Given the description of an element on the screen output the (x, y) to click on. 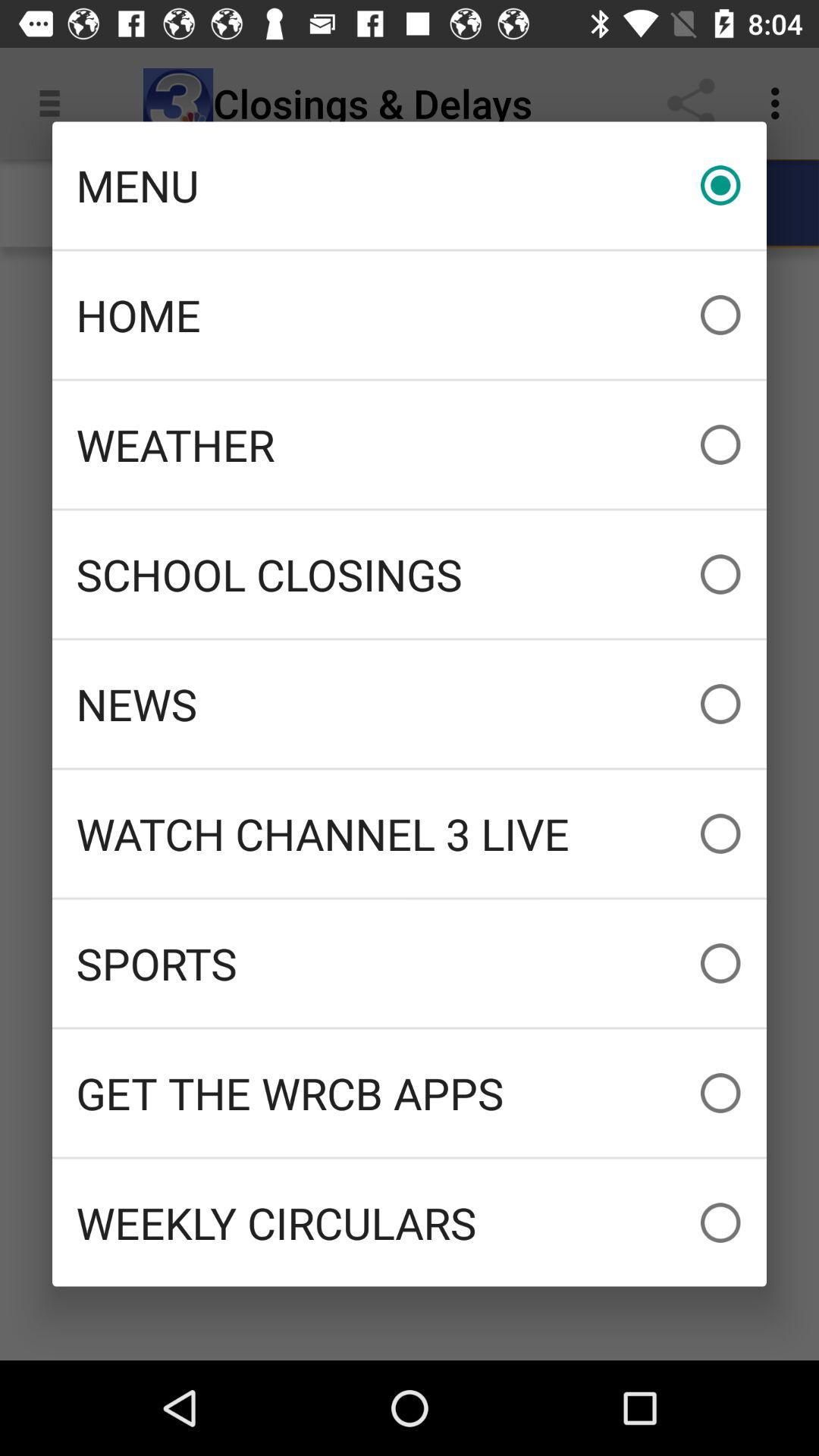
turn off the icon above the weather item (409, 314)
